Given the description of an element on the screen output the (x, y) to click on. 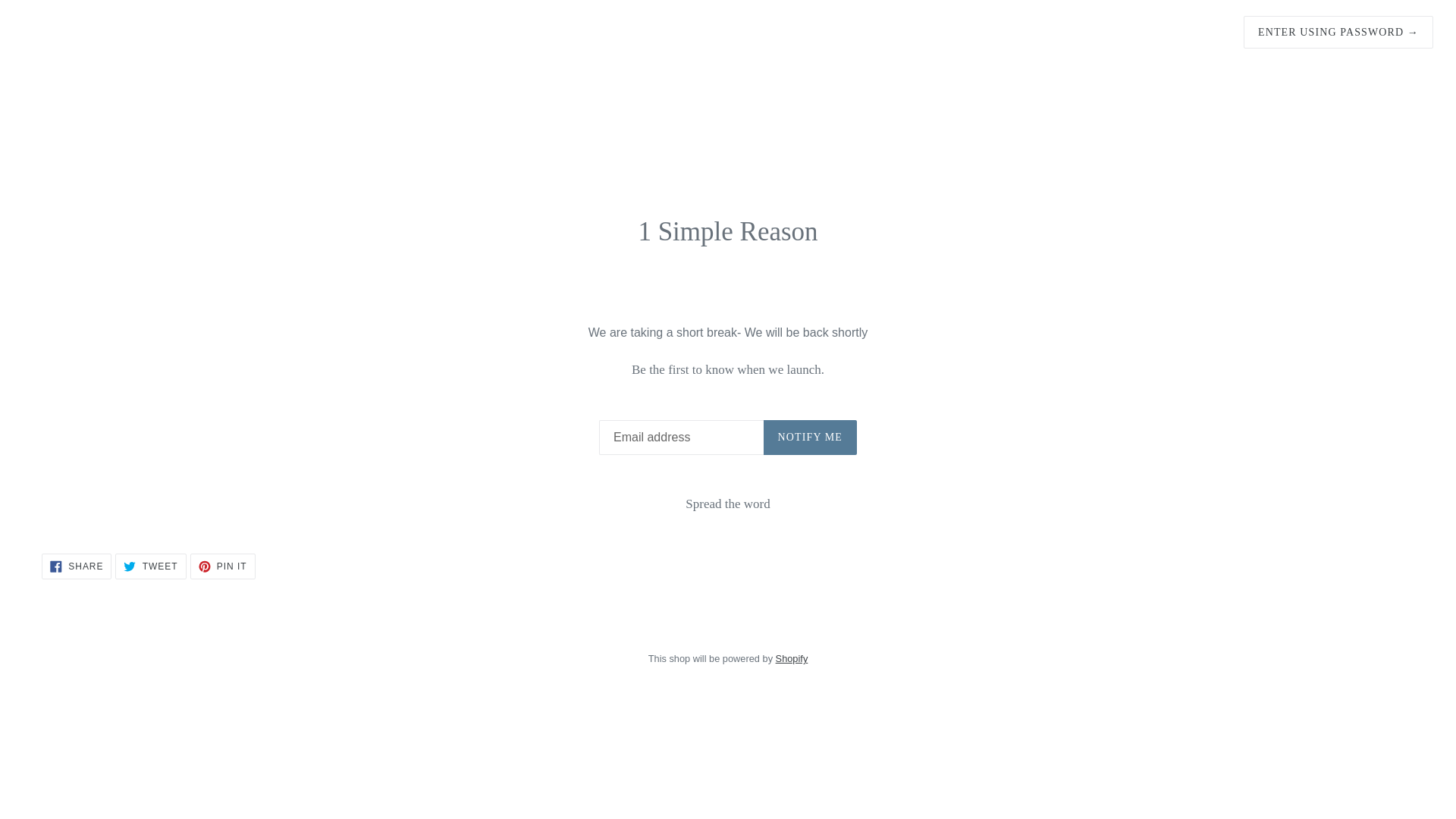
TWEET
TWEET ON TWITTER Element type: text (150, 566)
PIN IT
PIN ON PINTEREST Element type: text (222, 566)
Shopify Element type: text (791, 658)
SHARE
SHARE ON FACEBOOK Element type: text (76, 566)
NOTIFY ME Element type: text (809, 437)
